Given the description of an element on the screen output the (x, y) to click on. 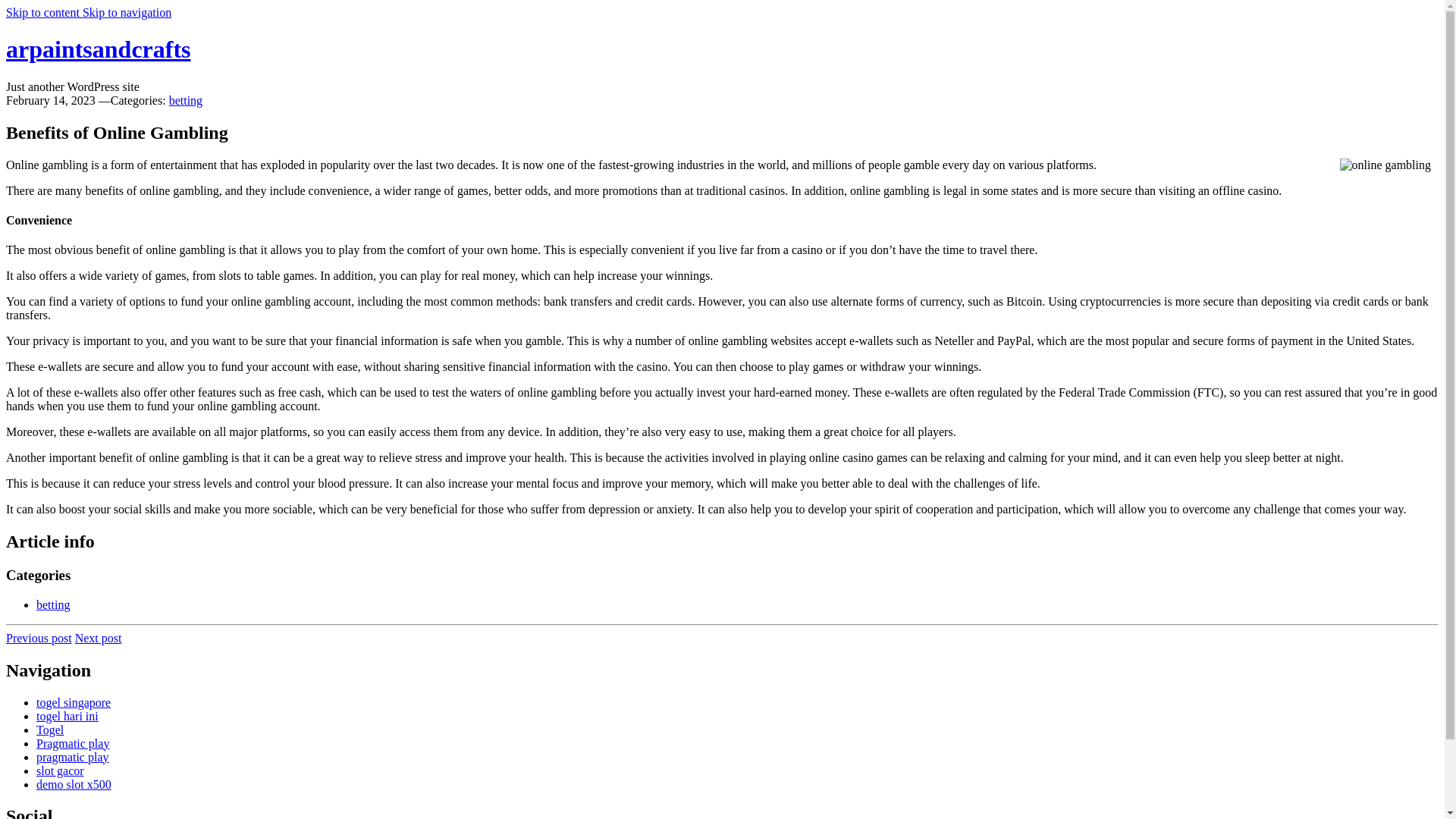
togel hari ini (67, 716)
demo slot x500 (74, 784)
Skip to content (43, 11)
Pragmatic play (72, 743)
Togel (50, 729)
Skip to navigation (126, 11)
pragmatic play (72, 757)
Next post (98, 637)
arpaintsandcrafts (97, 49)
slot gacor (60, 770)
Previous post (38, 637)
betting (185, 100)
togel singapore (73, 702)
betting (52, 604)
